Given the description of an element on the screen output the (x, y) to click on. 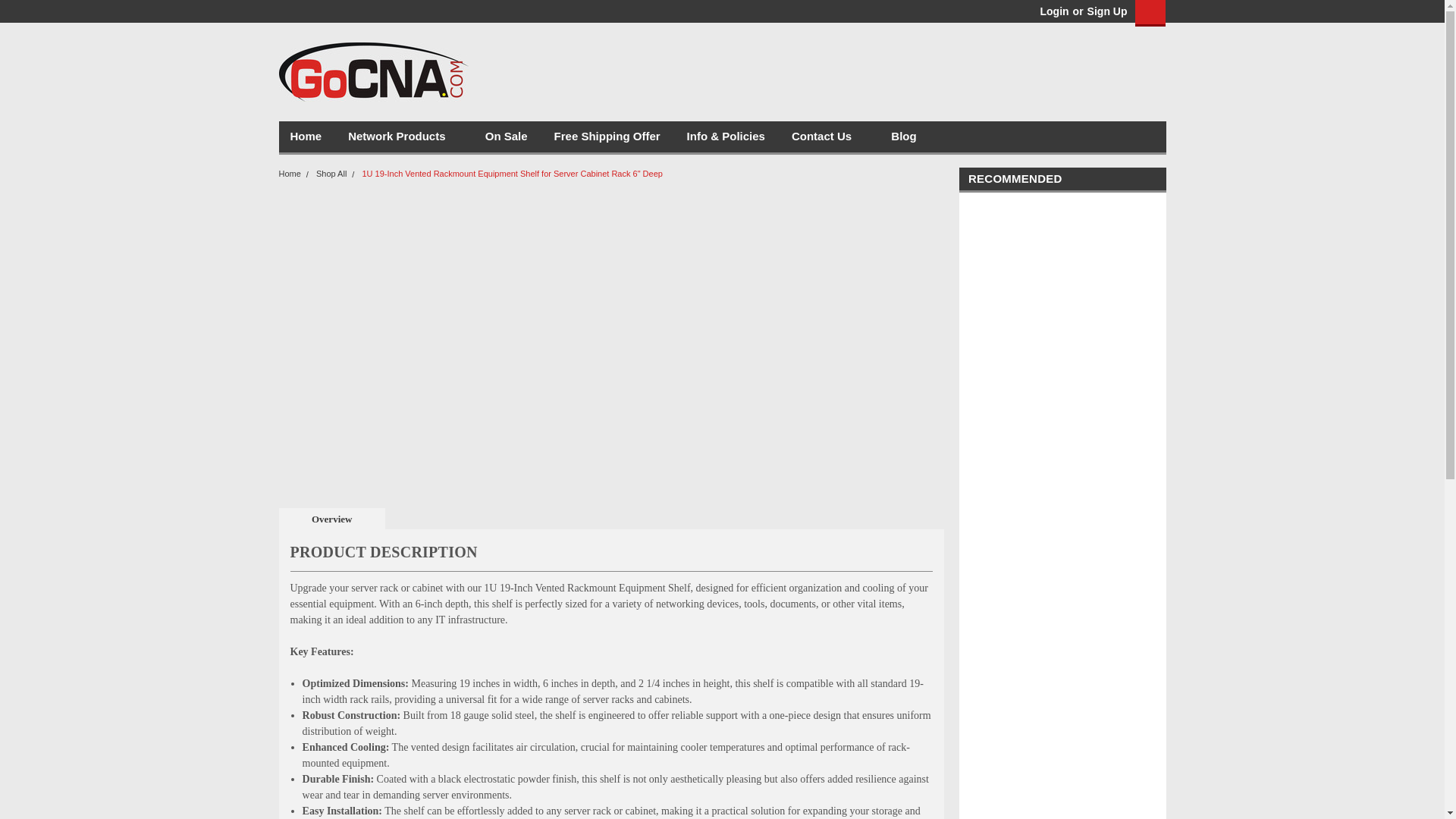
Login (1054, 11)
Sign Up (1104, 11)
Computer Network Accessories, Inc (373, 71)
